Given the description of an element on the screen output the (x, y) to click on. 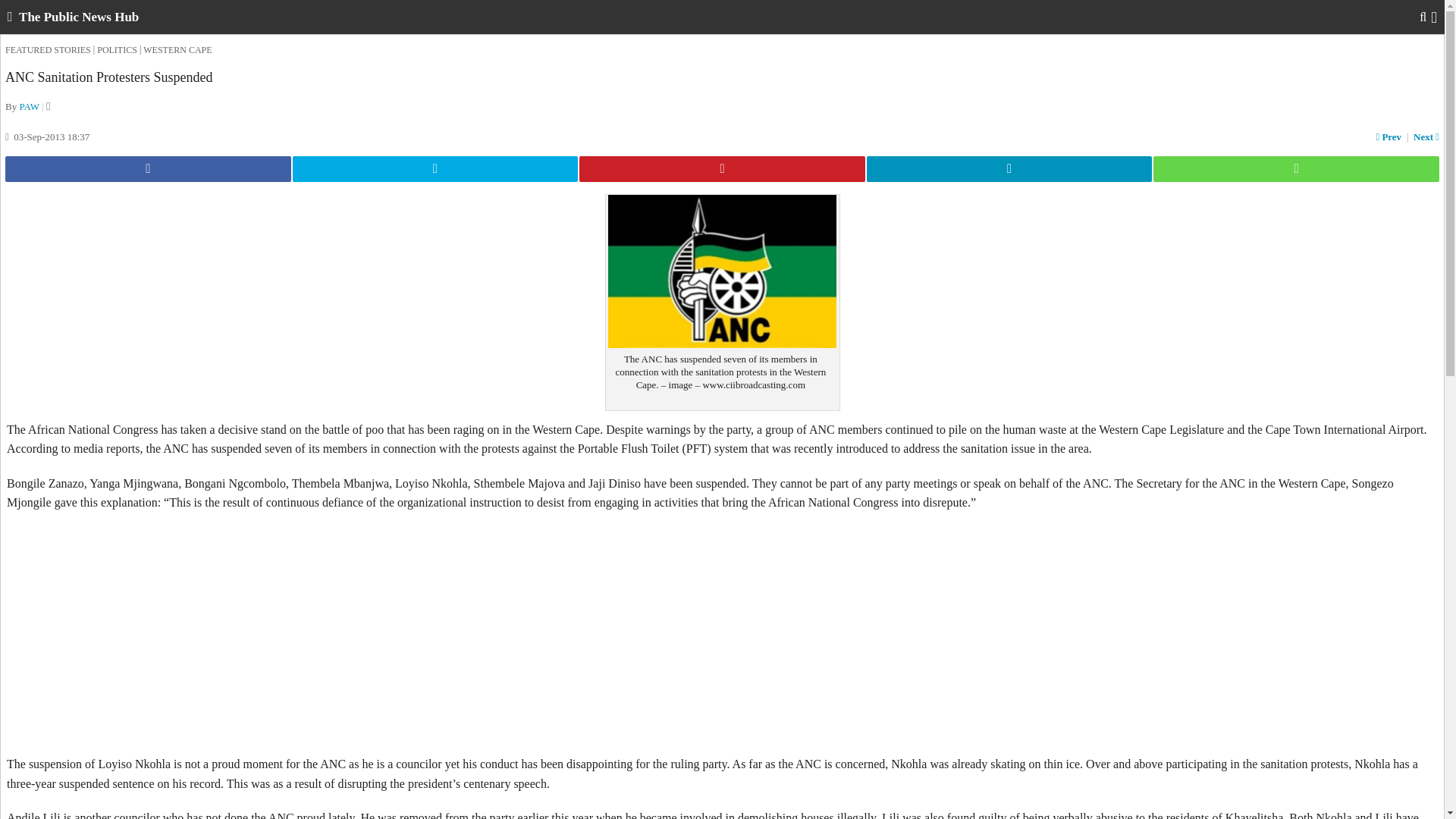
POLITICS (116, 50)
FEATURED STORIES (47, 50)
 Next (1424, 136)
Posts by PAW (28, 106)
PAW (28, 106)
WESTERN CAPE (176, 50)
Prev  (1390, 136)
